Given the description of an element on the screen output the (x, y) to click on. 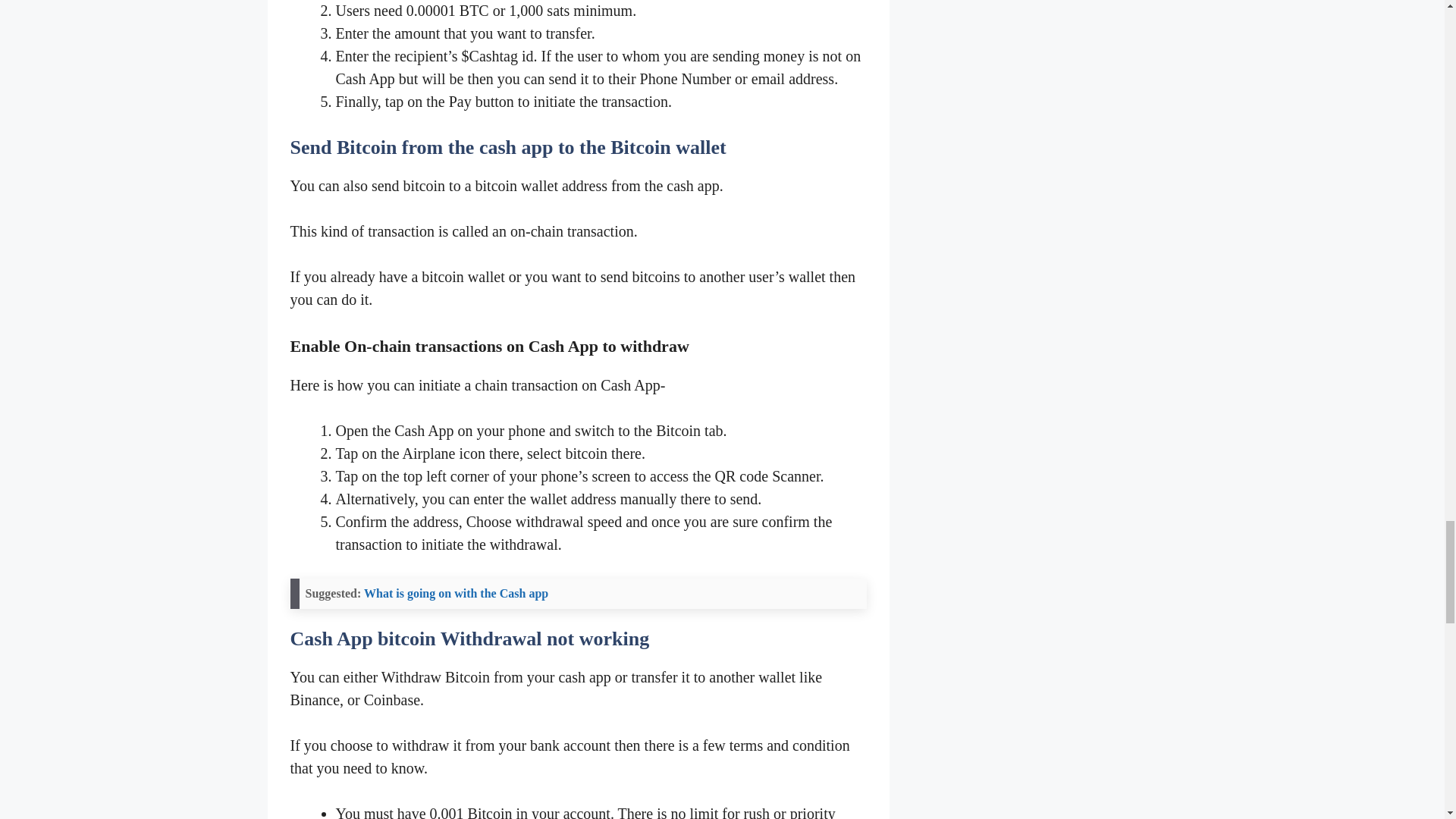
What is going on with the Cash app (456, 593)
